Given the description of an element on the screen output the (x, y) to click on. 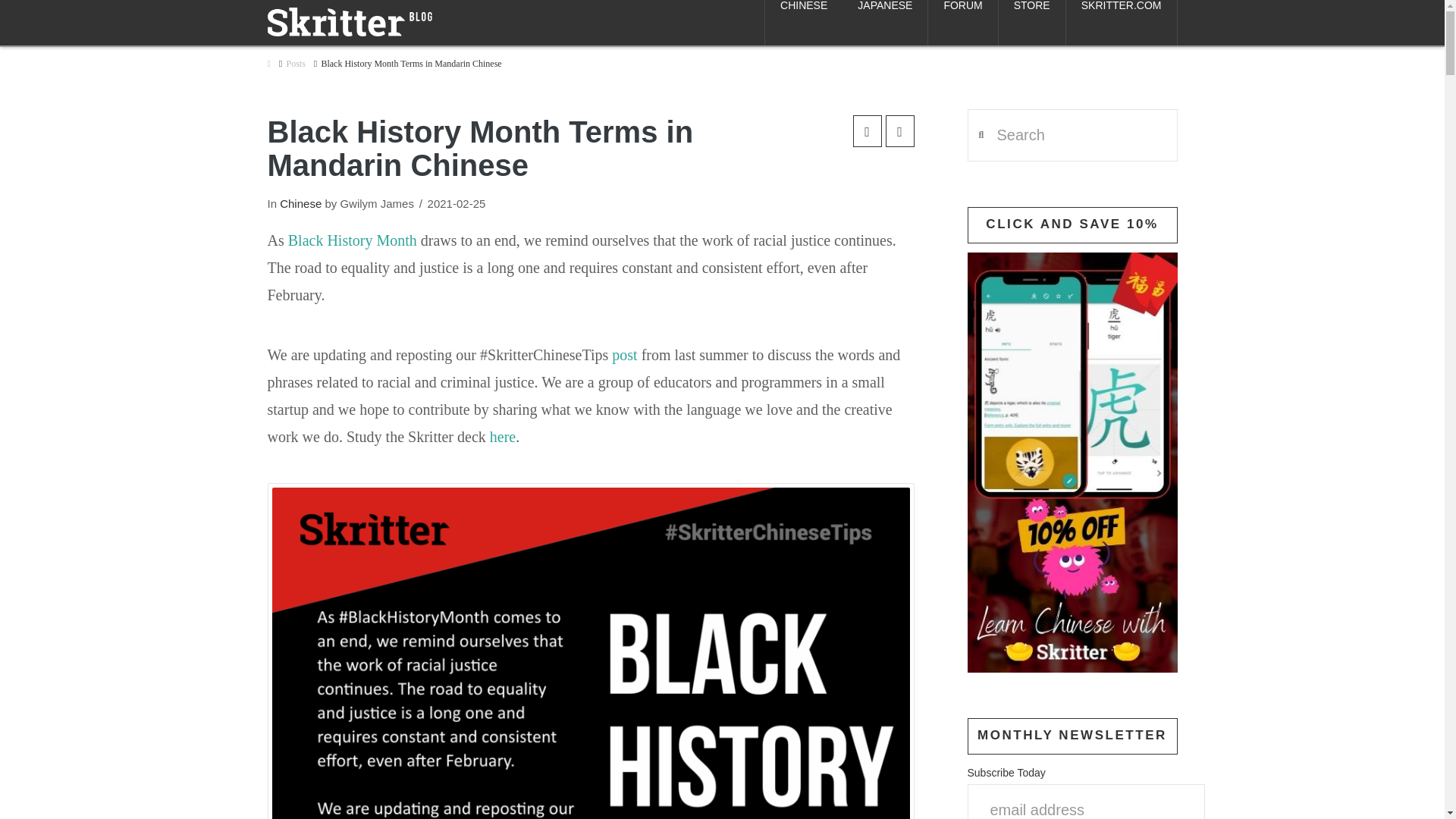
Posts (294, 63)
FORUM (962, 22)
SKRITTER.COM (1121, 22)
STORE (1031, 22)
Black History Month Terms in Mandarin Chinese (410, 63)
You Are Here (410, 63)
here (502, 436)
post (624, 354)
Black History Month (352, 239)
Home (267, 63)
JAPANESE (885, 22)
Chinese (300, 203)
CHINESE (803, 22)
